Given the description of an element on the screen output the (x, y) to click on. 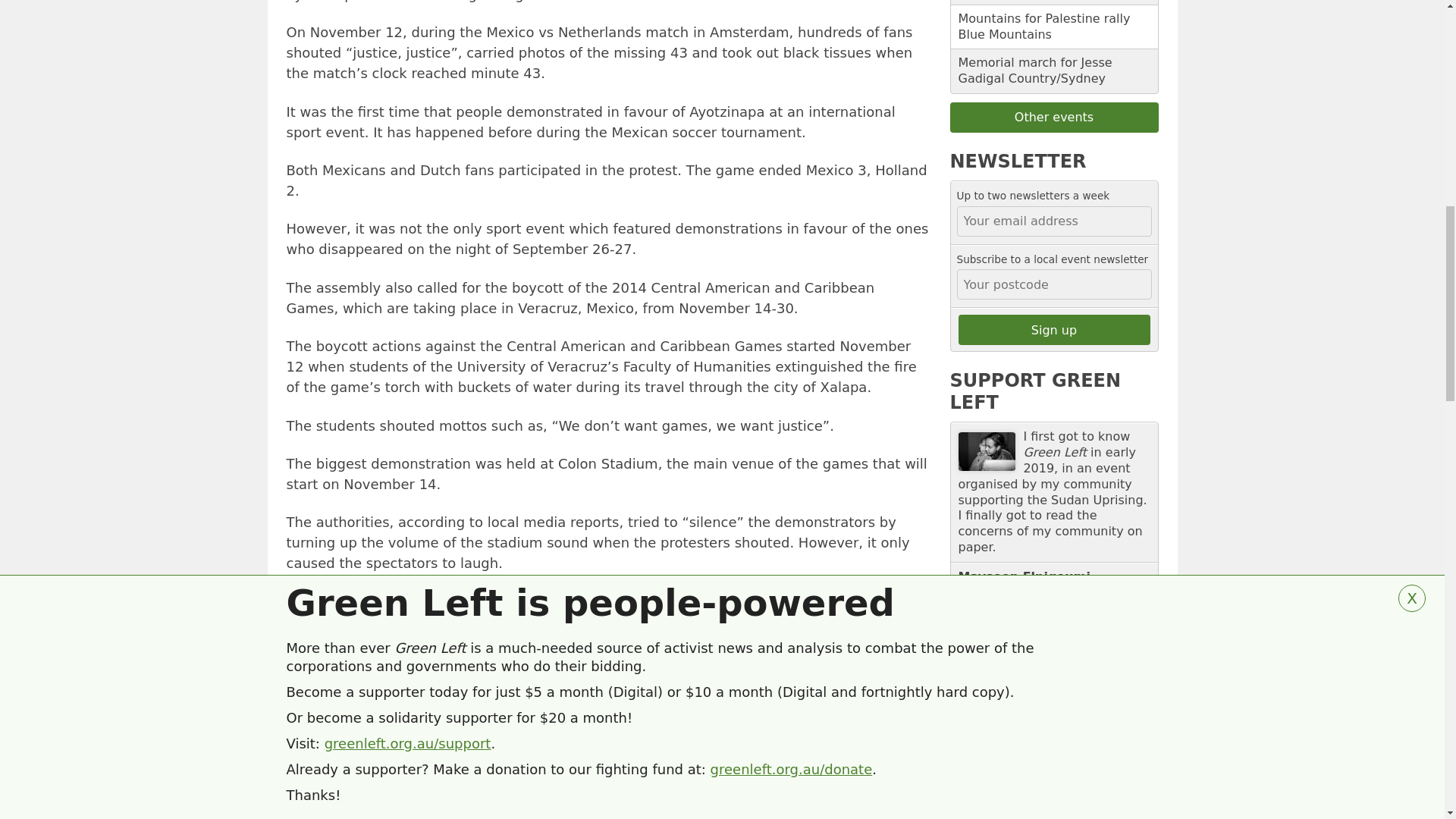
Sign up (1054, 329)
